Given the description of an element on the screen output the (x, y) to click on. 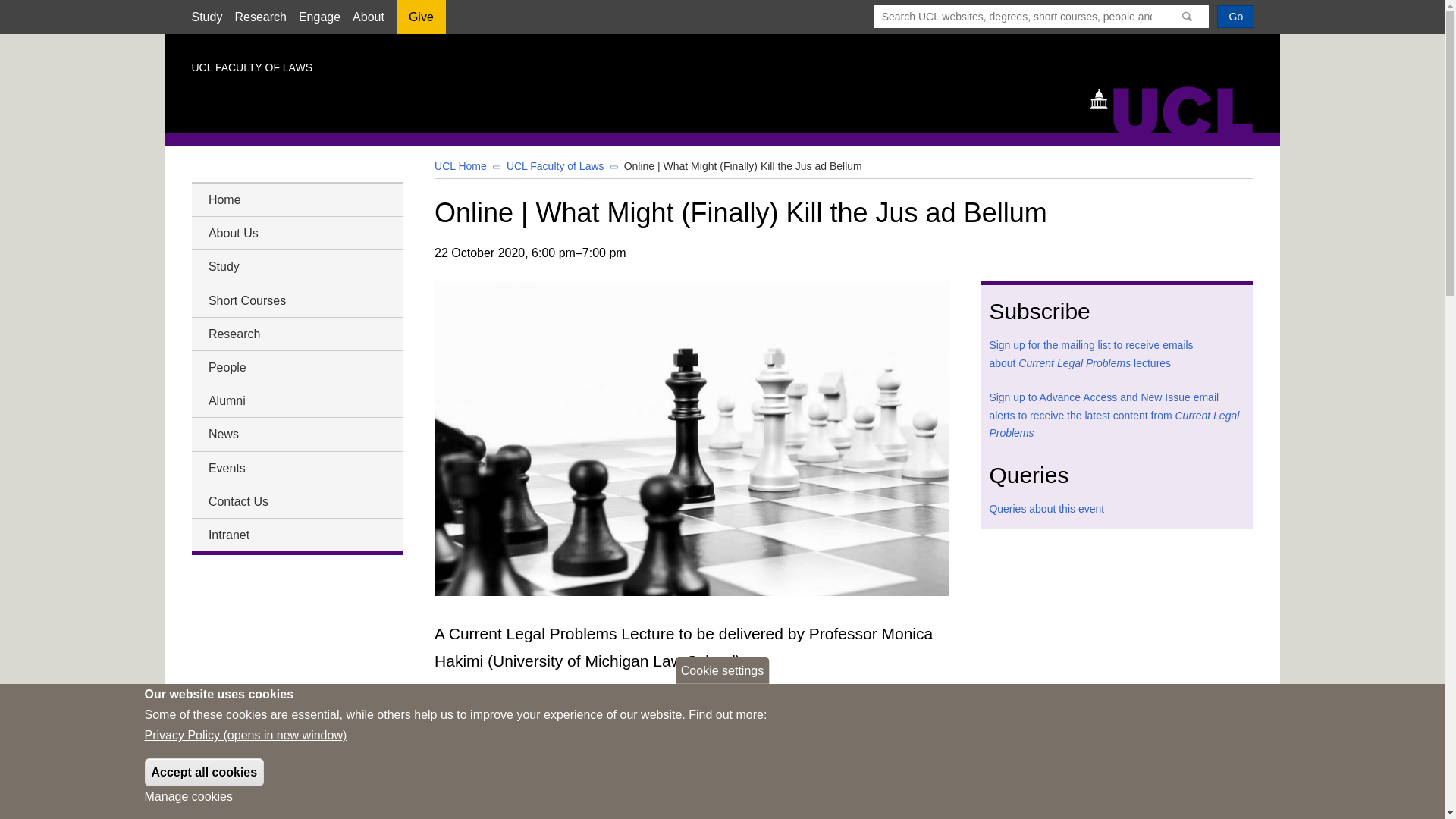
Go (1235, 15)
Give (420, 22)
Go (1235, 15)
Alumni (296, 400)
Engage (319, 16)
Research (296, 333)
Home (1178, 108)
About (368, 16)
Go (1235, 15)
Research (259, 16)
About Us (296, 232)
Short Courses (296, 300)
People (296, 367)
Study (206, 16)
Home (296, 199)
